Given the description of an element on the screen output the (x, y) to click on. 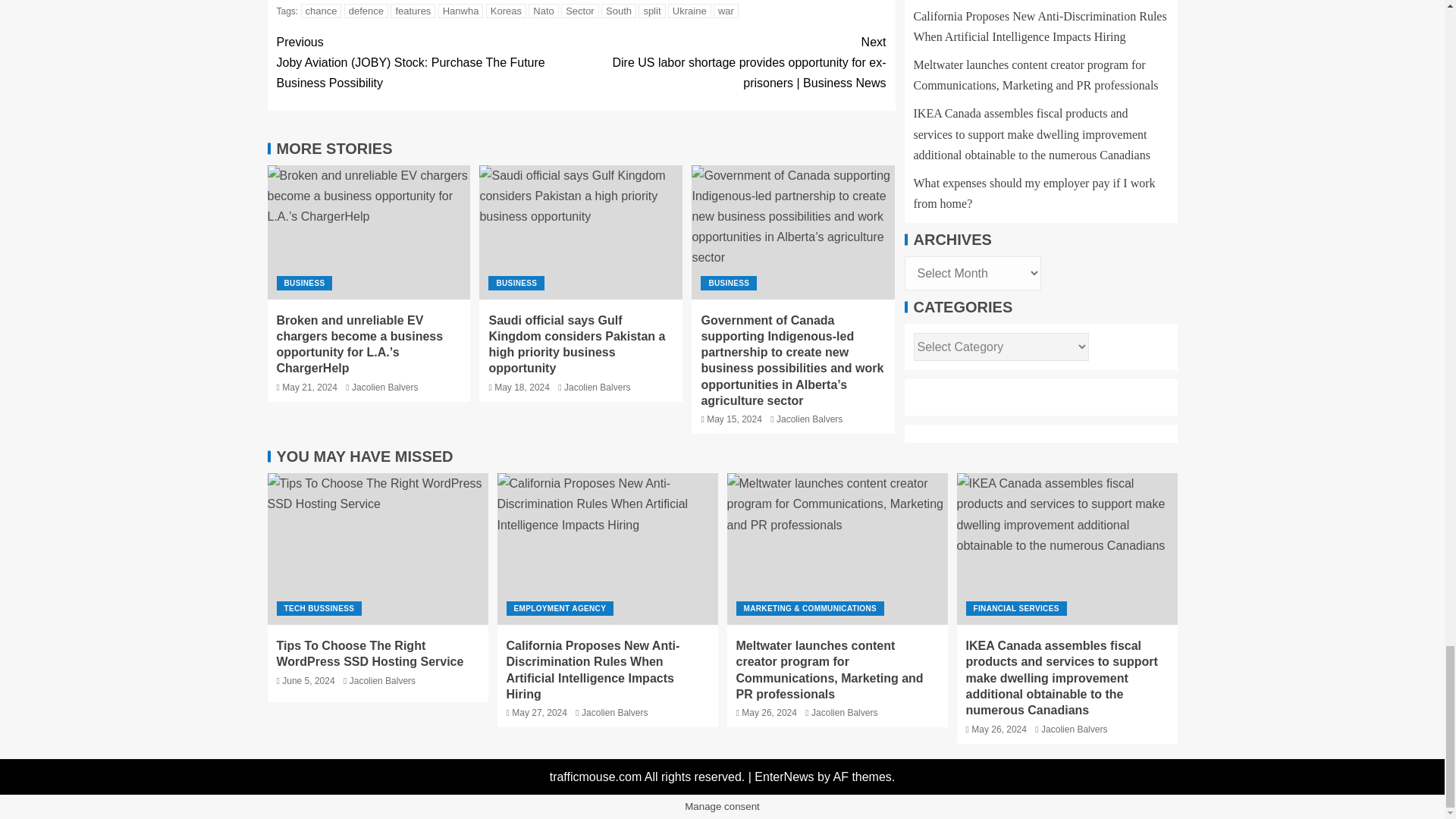
Ukraine (689, 11)
South (618, 11)
chance (321, 11)
features (412, 11)
Koreas (505, 11)
Tips To Choose The Right WordPress SSD Hosting Service (376, 548)
BUSINESS (303, 283)
Sector (579, 11)
